Given the description of an element on the screen output the (x, y) to click on. 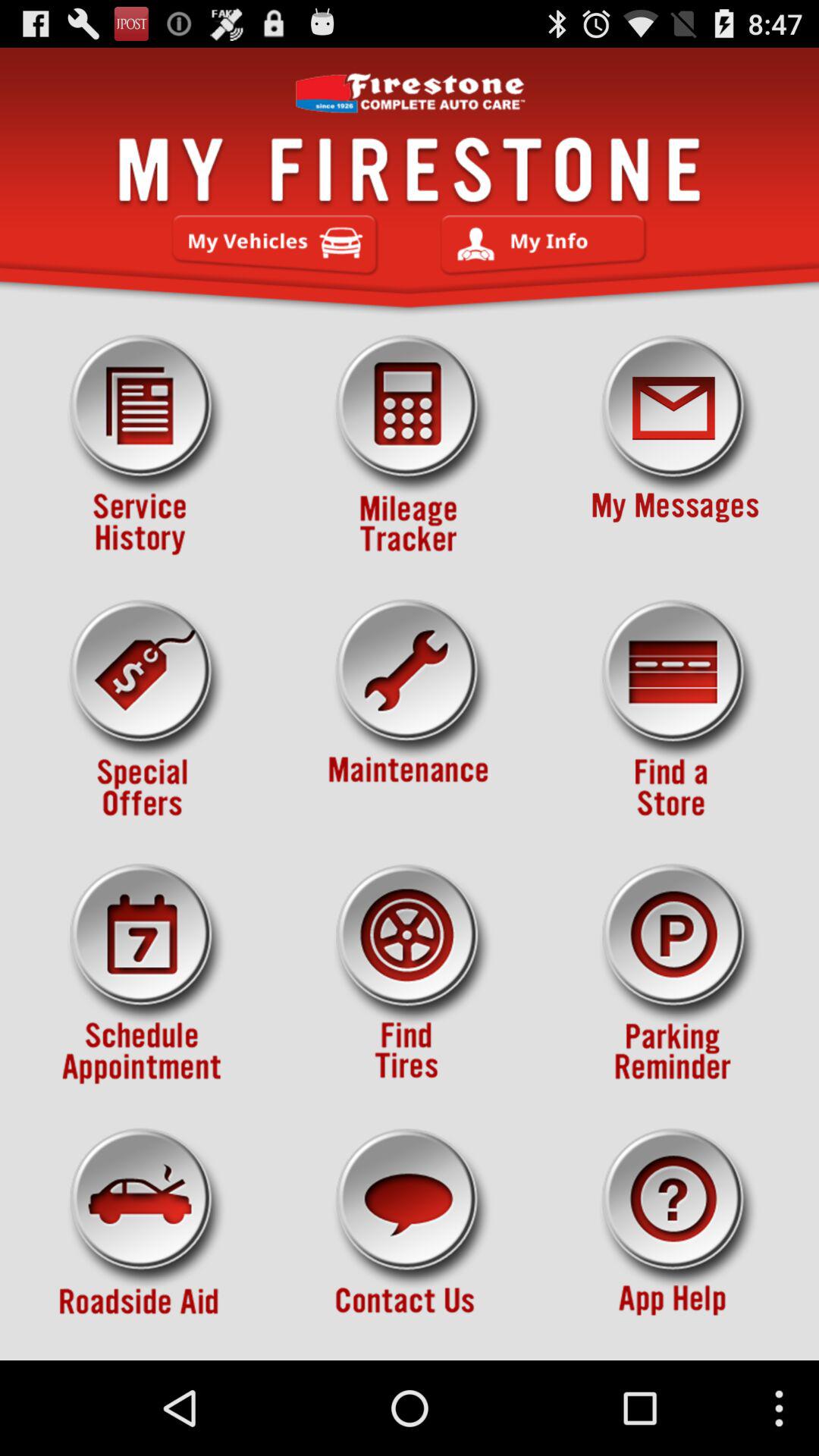
find a location (675, 709)
